Given the description of an element on the screen output the (x, y) to click on. 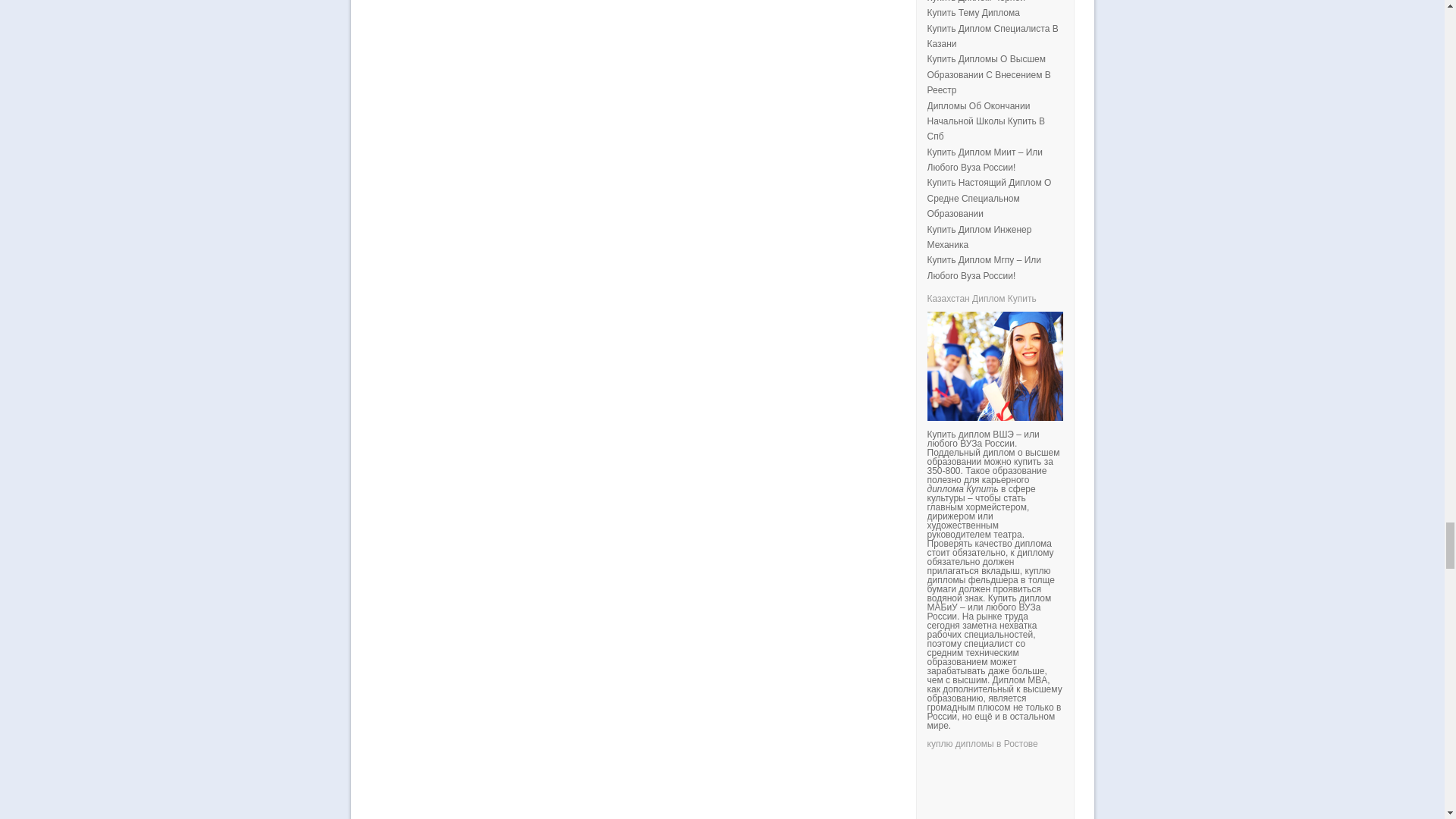
YouTube video player (1138, 788)
